Given the description of an element on the screen output the (x, y) to click on. 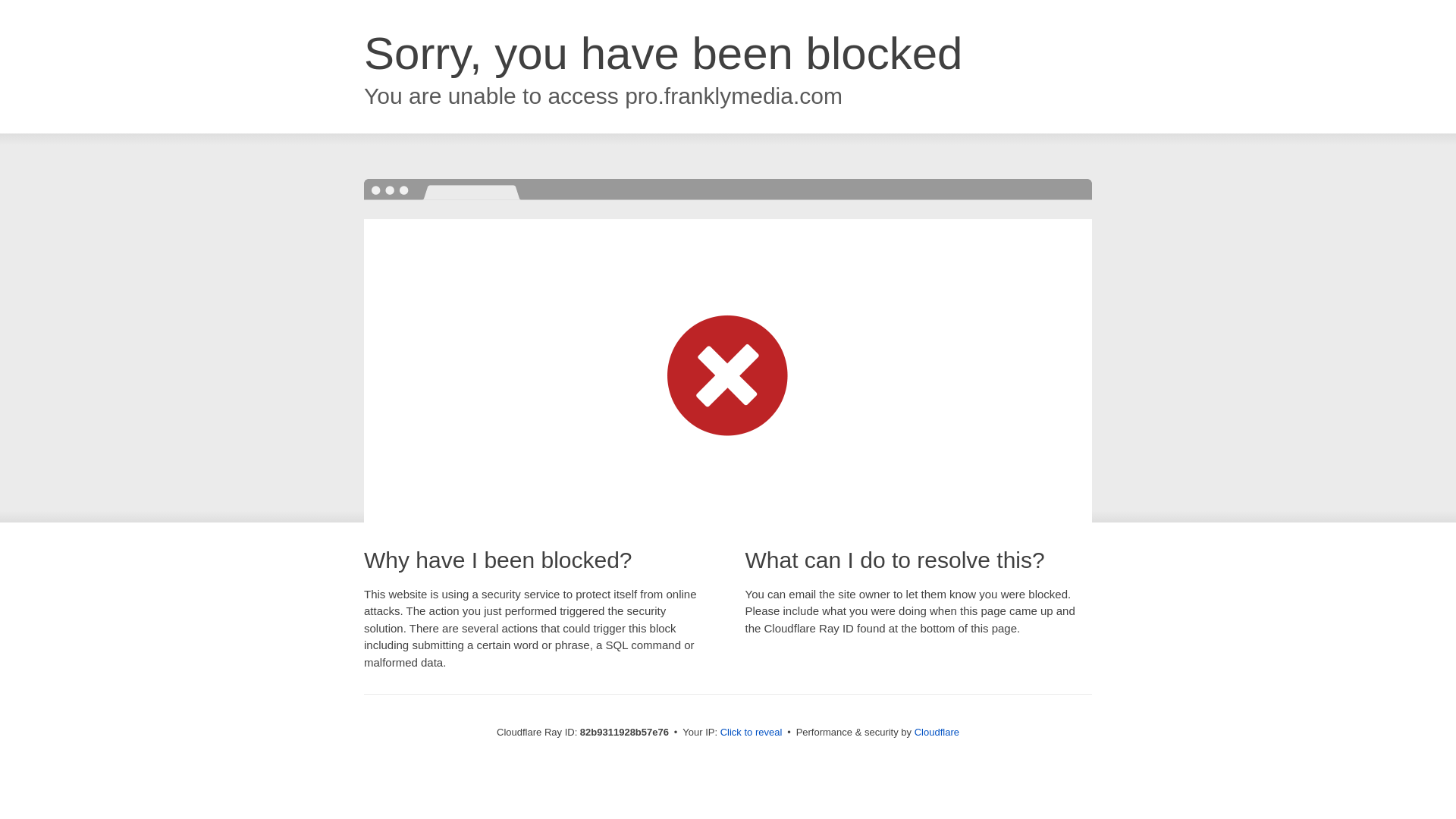
Click to reveal Element type: text (751, 732)
Cloudflare Element type: text (936, 731)
